Given the description of an element on the screen output the (x, y) to click on. 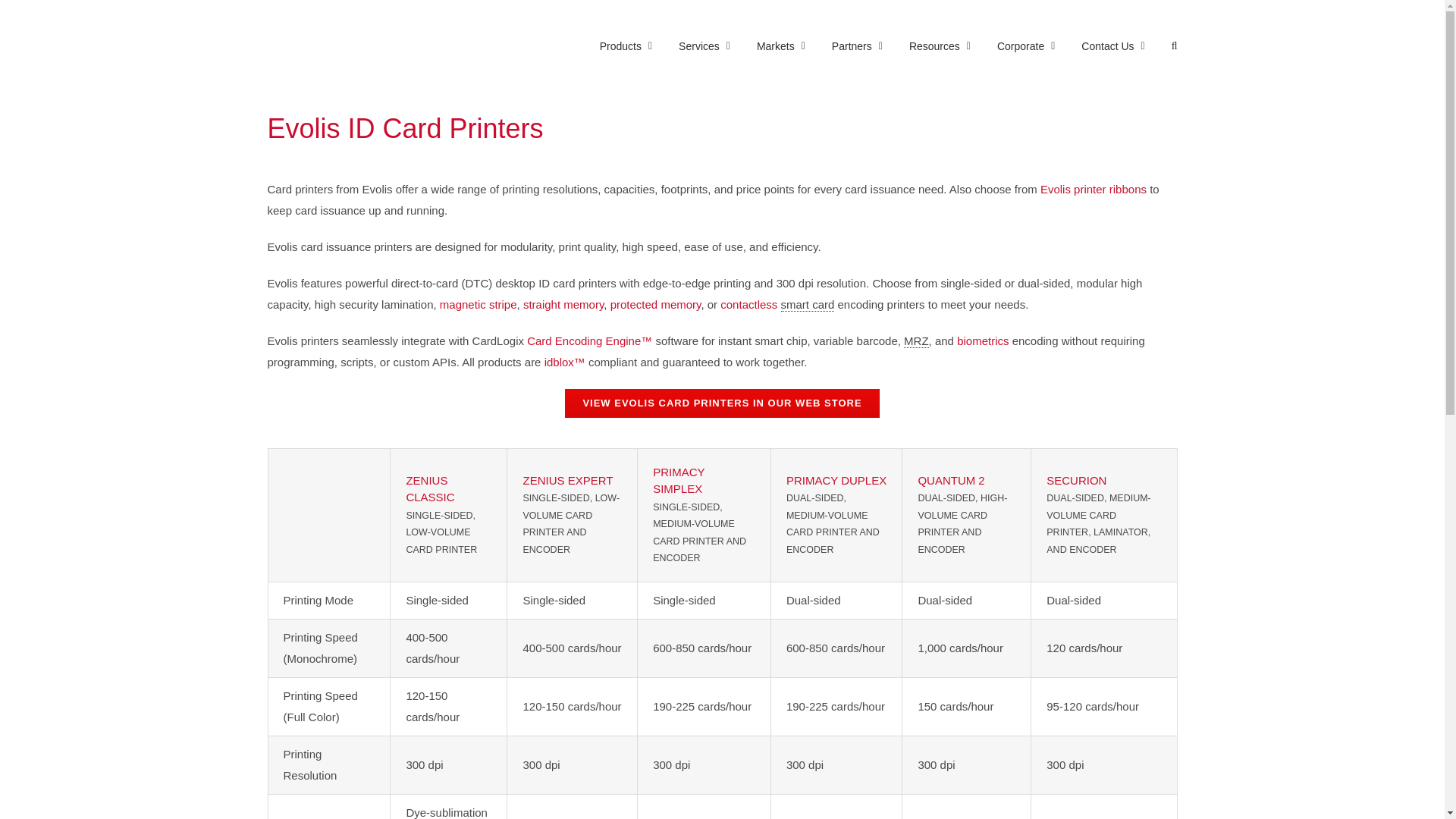
CardLogix Products (625, 44)
2 Trk, 3 Trk, LoCo, and HiCo magstripe cards (477, 304)
idblox ID Credential Smart Card Ecosystem (564, 361)
Products (625, 44)
